Given the description of an element on the screen output the (x, y) to click on. 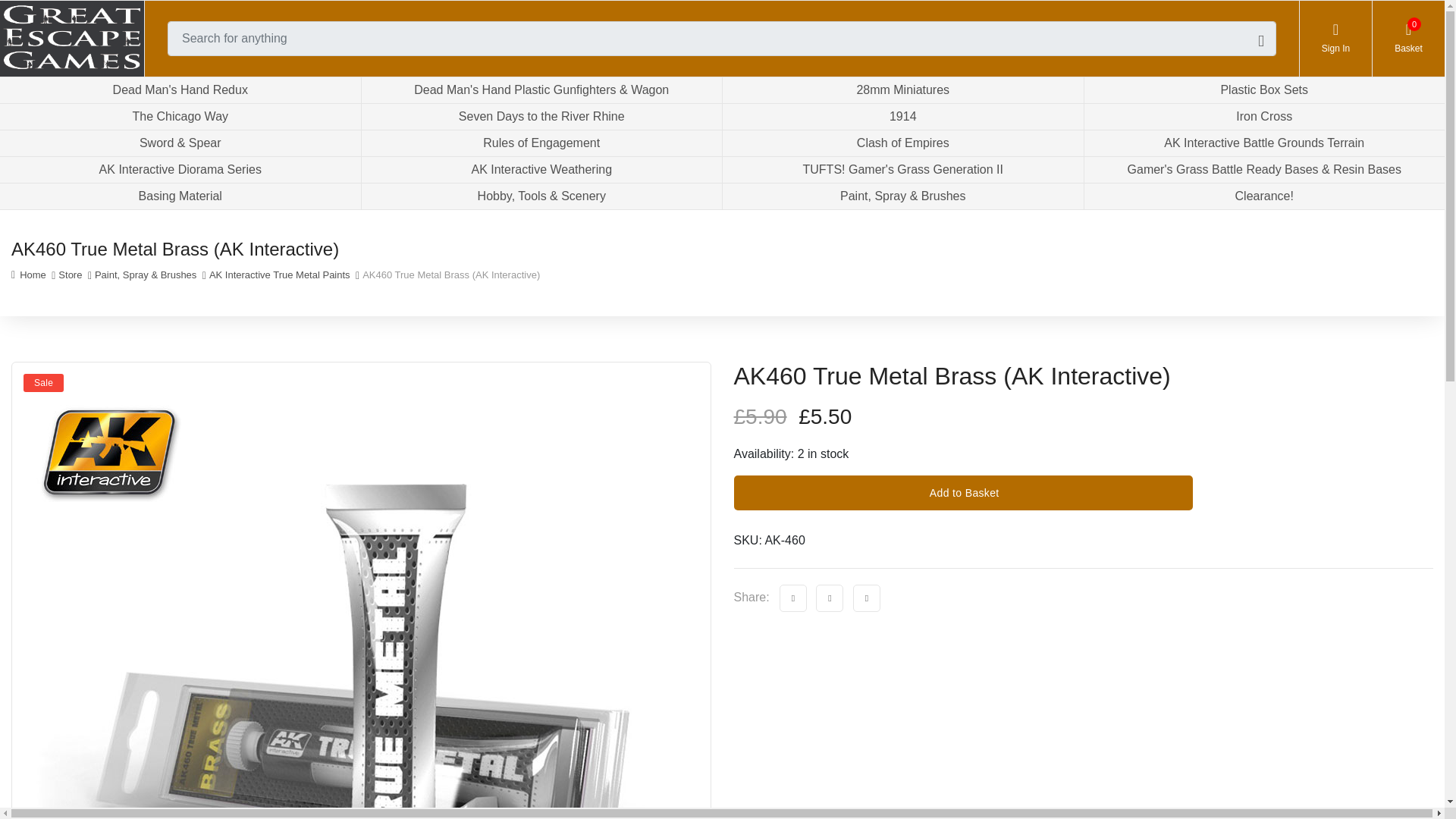
Sign In (1335, 38)
